Given the description of an element on the screen output the (x, y) to click on. 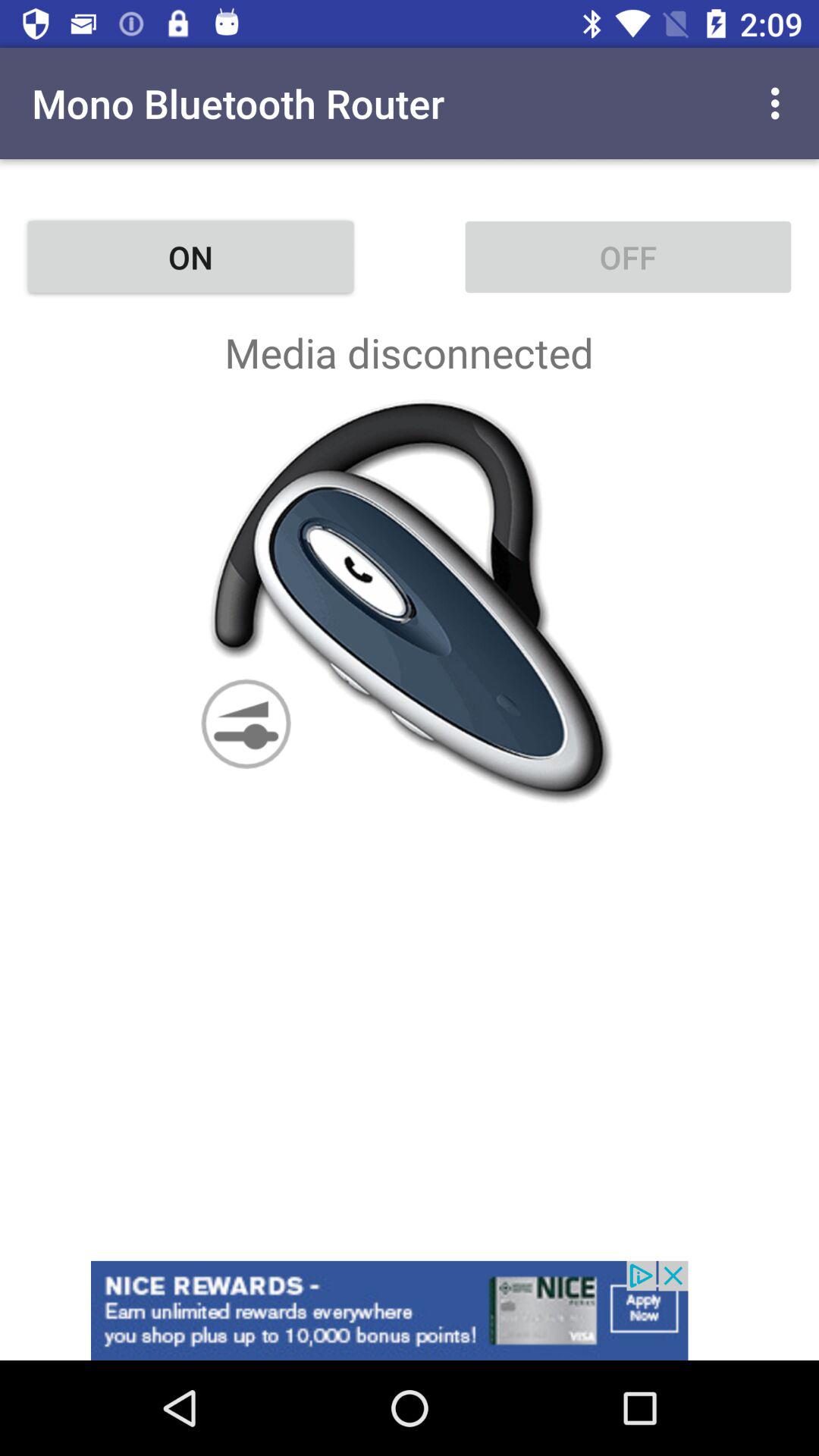
bluetooth (409, 600)
